Given the description of an element on the screen output the (x, y) to click on. 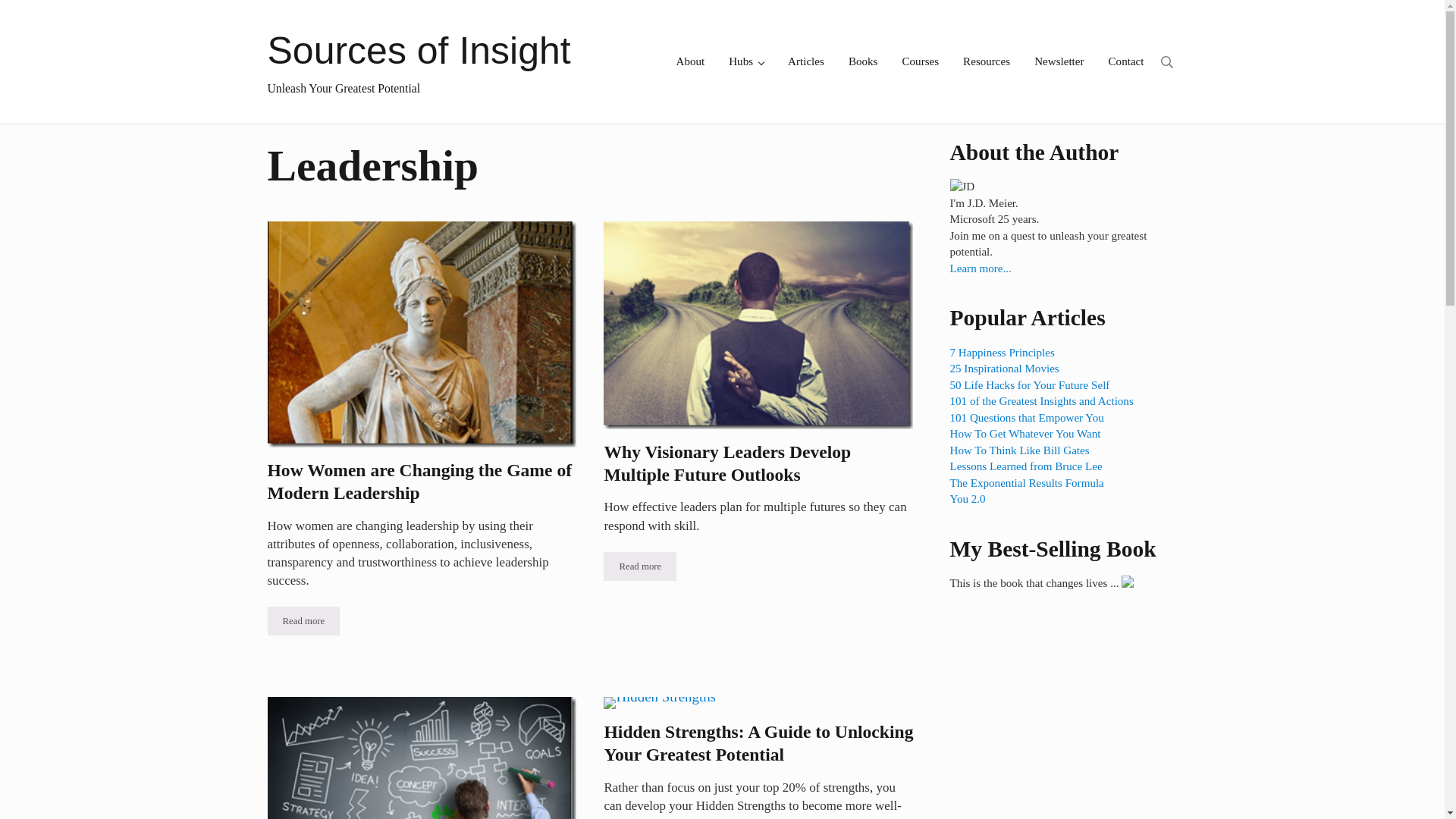
Newsletter (1059, 61)
Articles (805, 61)
Why Visionary Leaders Develop Multiple Future Outlooks (758, 463)
Resources (986, 61)
Books (862, 61)
Contact (1126, 61)
Sources of Insight (418, 50)
Hubs (746, 61)
About (689, 61)
How Women are Changing the Game of Modern Leadership (421, 482)
Courses (919, 61)
